Given the description of an element on the screen output the (x, y) to click on. 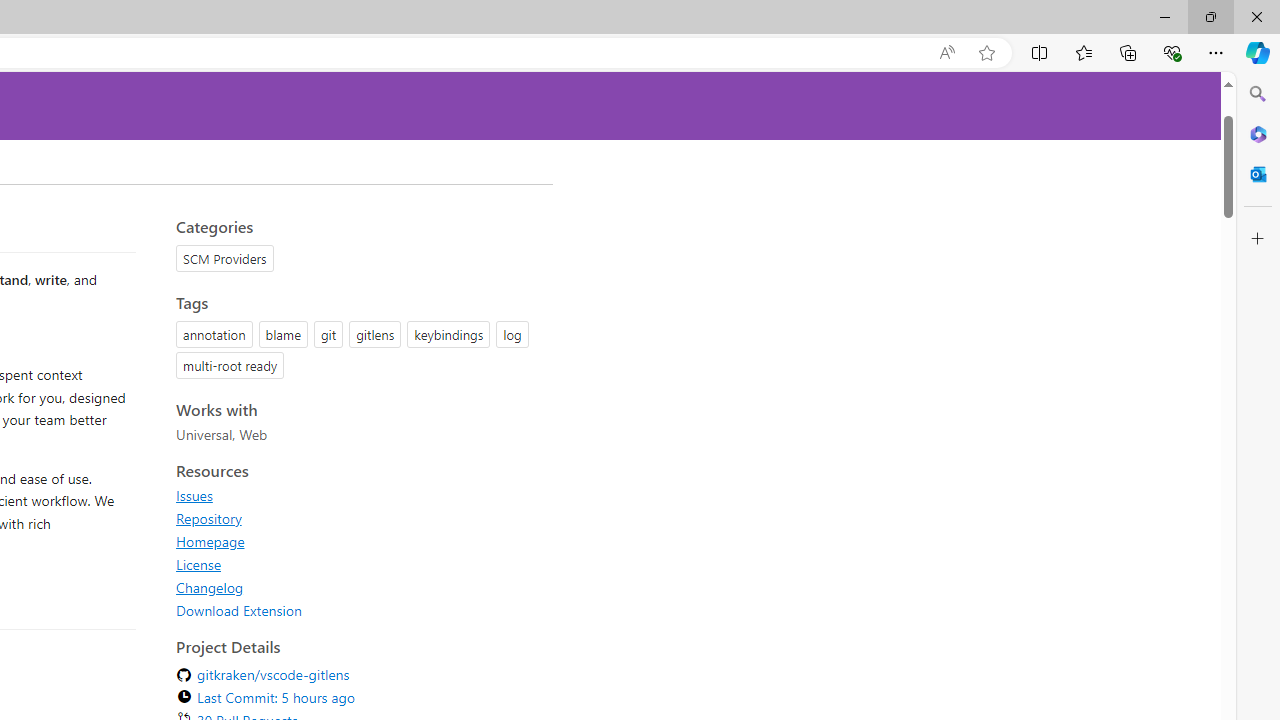
Changelog (210, 587)
Issues (358, 495)
Repository (358, 518)
Homepage (210, 541)
Homepage (358, 541)
License (358, 564)
